Given the description of an element on the screen output the (x, y) to click on. 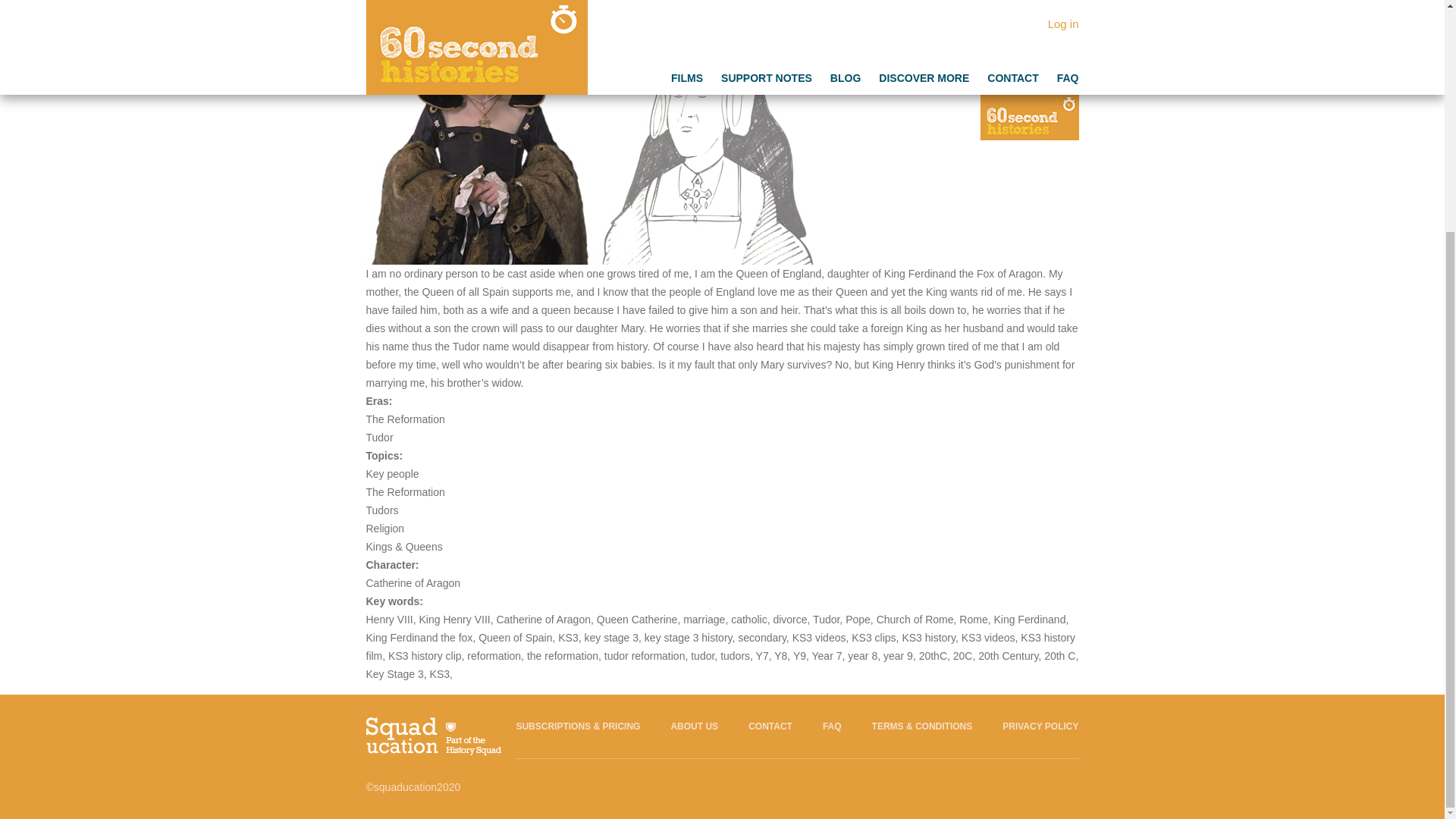
PRIVACY POLICY (1040, 726)
FAQ (831, 726)
CONTACT (770, 726)
Click to watch (607, 255)
ABOUT US (693, 726)
